Given the description of an element on the screen output the (x, y) to click on. 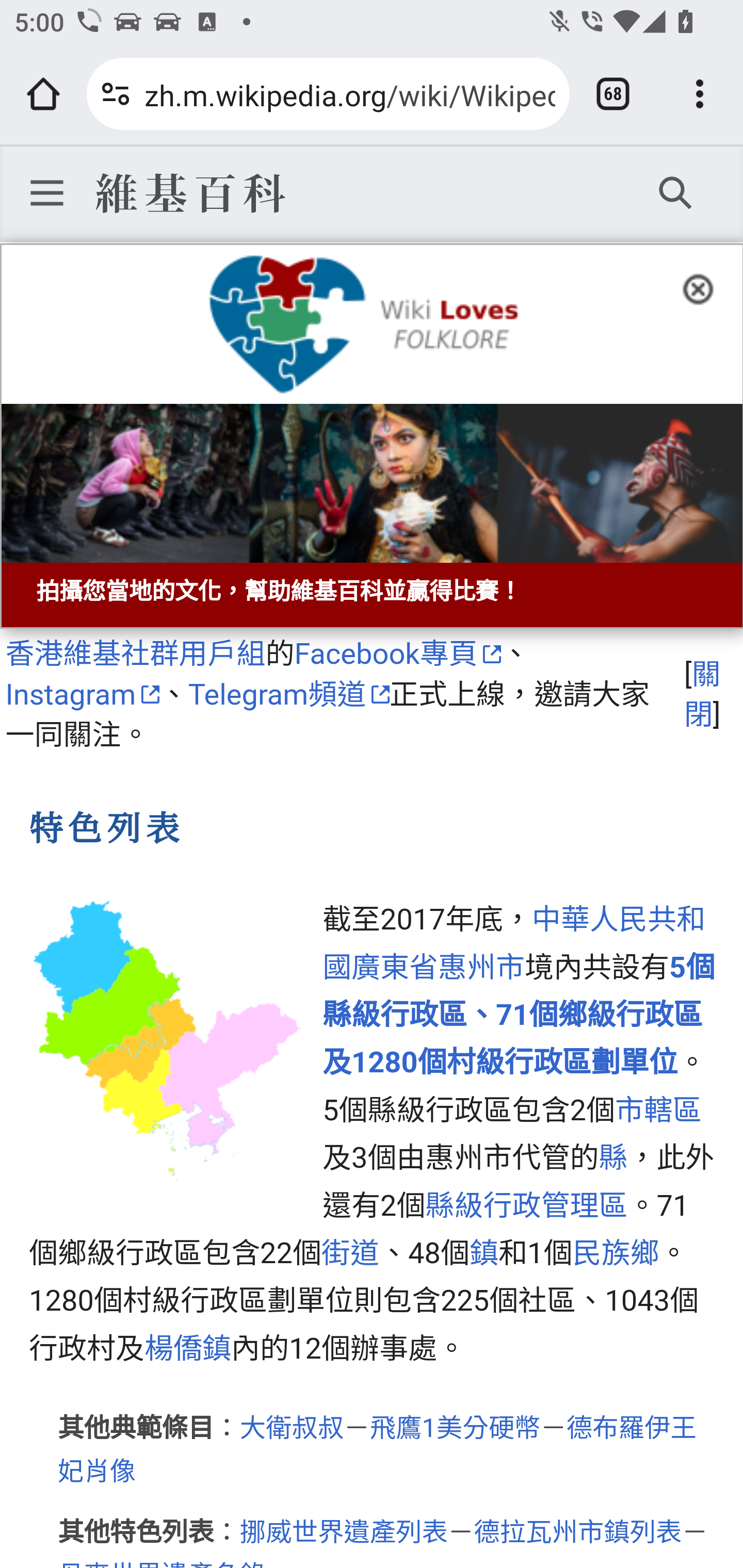
Open the home page (43, 93)
Connection is secure (115, 93)
Switch or close tabs (612, 93)
Customize and control Google Chrome (699, 93)
zh.m.wikipedia.org/wiki/Wikipedia:首页 (349, 92)
搜尋 (676, 192)
維基百科 (189, 191)
拍攝您當地的文化，幫助維基百科並贏得比賽！ (371, 435)
隱藏 (703, 286)
香港維基社群用戶組 (135, 653)
Facebook專頁 (397, 653)
關閉 (702, 694)
Instagram (81, 695)
Telegram頻道 (288, 695)
305px-Administrative_Division_Huizhou (167, 1041)
中華人民共和國 (513, 944)
5個縣級行政區、71個鄉級行政區及1280個村級行政區劃單位 (518, 1015)
廣東省 (394, 968)
惠州市 (480, 968)
市轄區 (657, 1109)
縣 (612, 1159)
縣級行政管理區 (526, 1206)
街道 (349, 1253)
鎮 (482, 1253)
民族鄉 (615, 1253)
楊僑鎮 (187, 1347)
其他典範條目 (135, 1428)
德布羅伊王妃肖像 (376, 1449)
大衛叔叔 (291, 1428)
飛鷹1美分硬幣 (454, 1428)
其他特色列表 (135, 1532)
挪威世界遺產列表 (343, 1532)
德拉瓦州市鎮列表 (577, 1532)
